Given the description of an element on the screen output the (x, y) to click on. 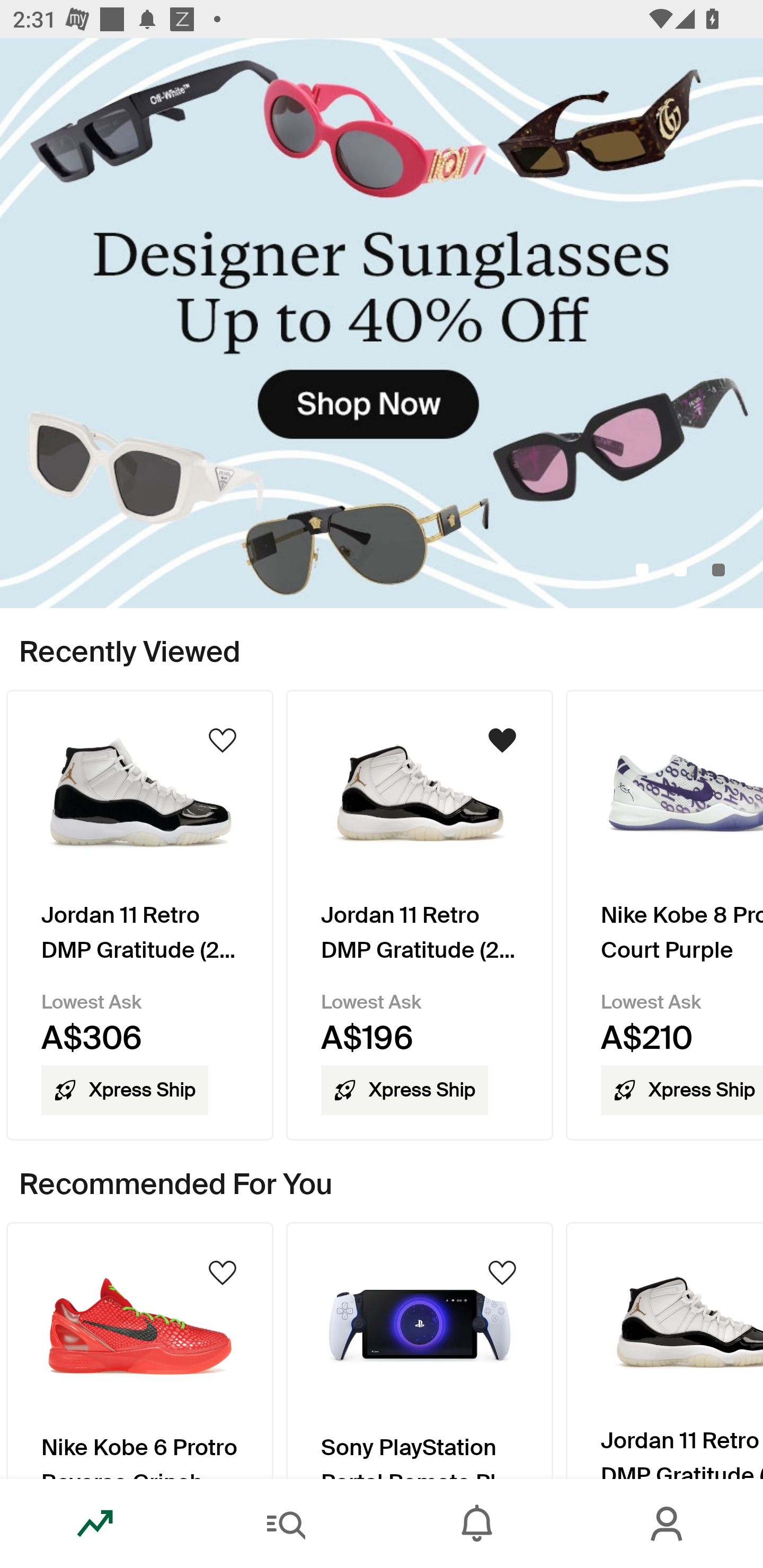
DesignerSunglassesUpto40_Off_Primary_Mobile.jpg (381, 322)
Product Image Nike Kobe 6 Protro Reverse Grinch (139, 1349)
Search (285, 1523)
Inbox (476, 1523)
Account (667, 1523)
